Given the description of an element on the screen output the (x, y) to click on. 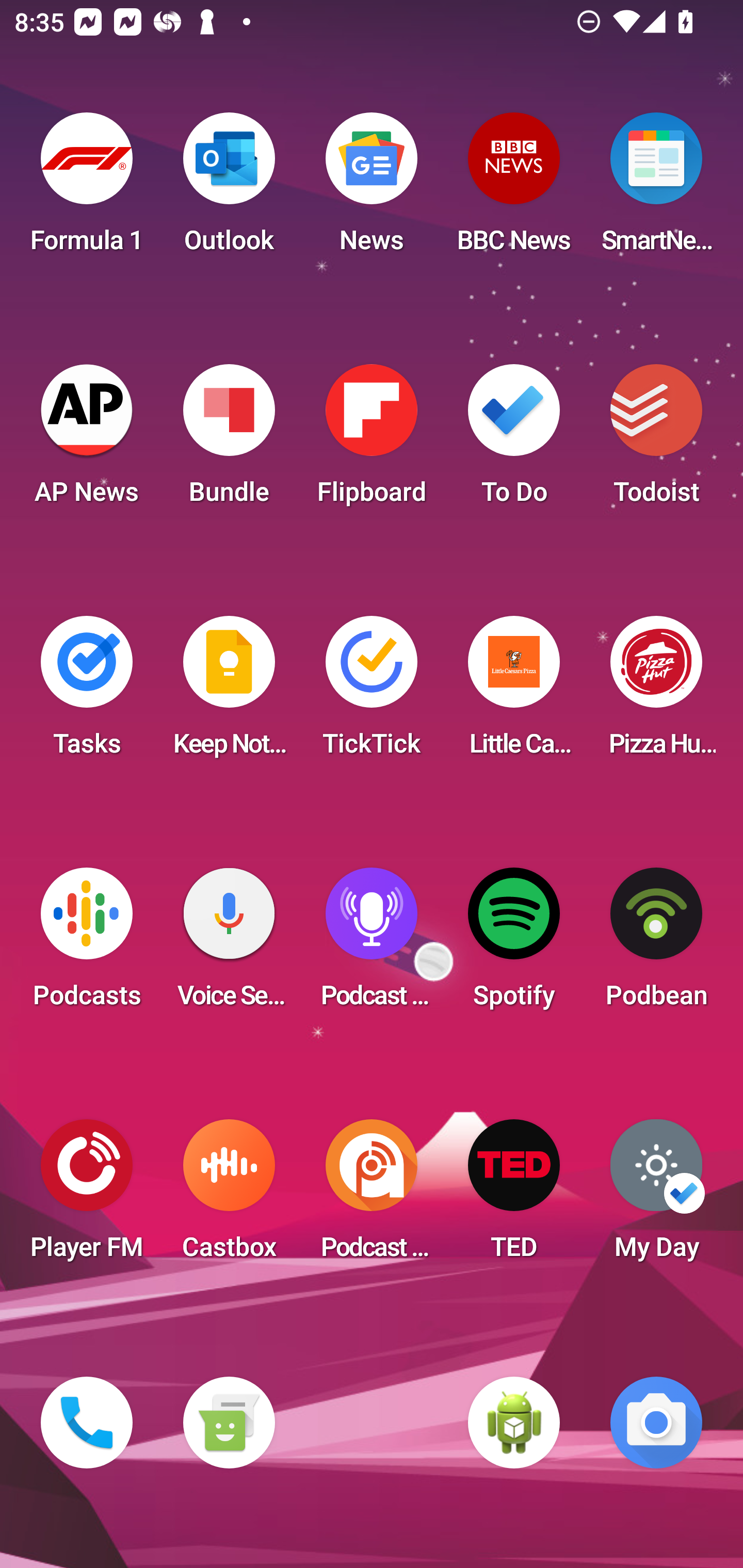
Formula 1 (86, 188)
Outlook (228, 188)
News (371, 188)
BBC News (513, 188)
SmartNews (656, 188)
AP News (86, 440)
Bundle (228, 440)
Flipboard (371, 440)
To Do (513, 440)
Todoist (656, 440)
Tasks (86, 692)
Keep Notes (228, 692)
TickTick (371, 692)
Little Caesars Pizza (513, 692)
Pizza Hut HK & Macau (656, 692)
Podcasts (86, 943)
Voice Search (228, 943)
Podcast Player (371, 943)
Spotify (513, 943)
Podbean (656, 943)
Player FM (86, 1195)
Castbox (228, 1195)
Podcast Addict (371, 1195)
TED (513, 1195)
My Day (656, 1195)
Phone (86, 1422)
Messaging (228, 1422)
WebView Browser Tester (513, 1422)
Camera (656, 1422)
